Given the description of an element on the screen output the (x, y) to click on. 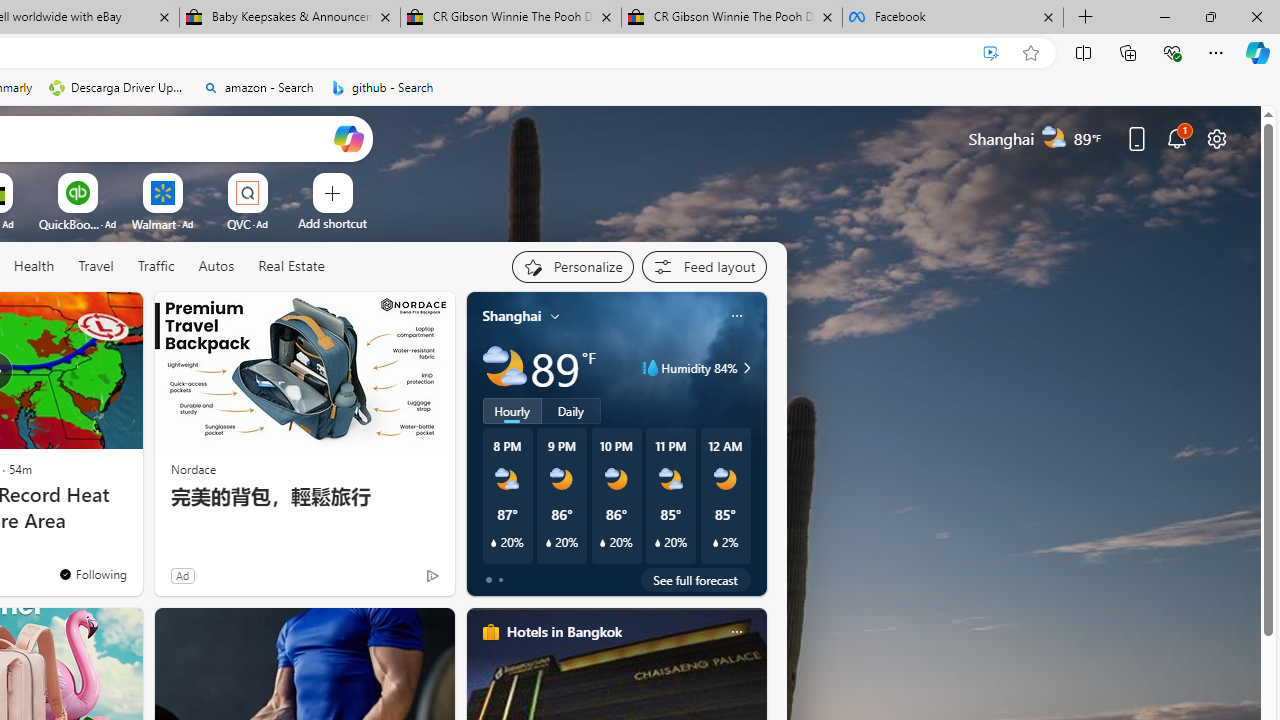
Enhance video (991, 53)
tab-1 (500, 579)
Health (33, 267)
Daily (571, 411)
Descarga Driver Updater (118, 88)
Hotels in Bangkok (563, 631)
